Given the description of an element on the screen output the (x, y) to click on. 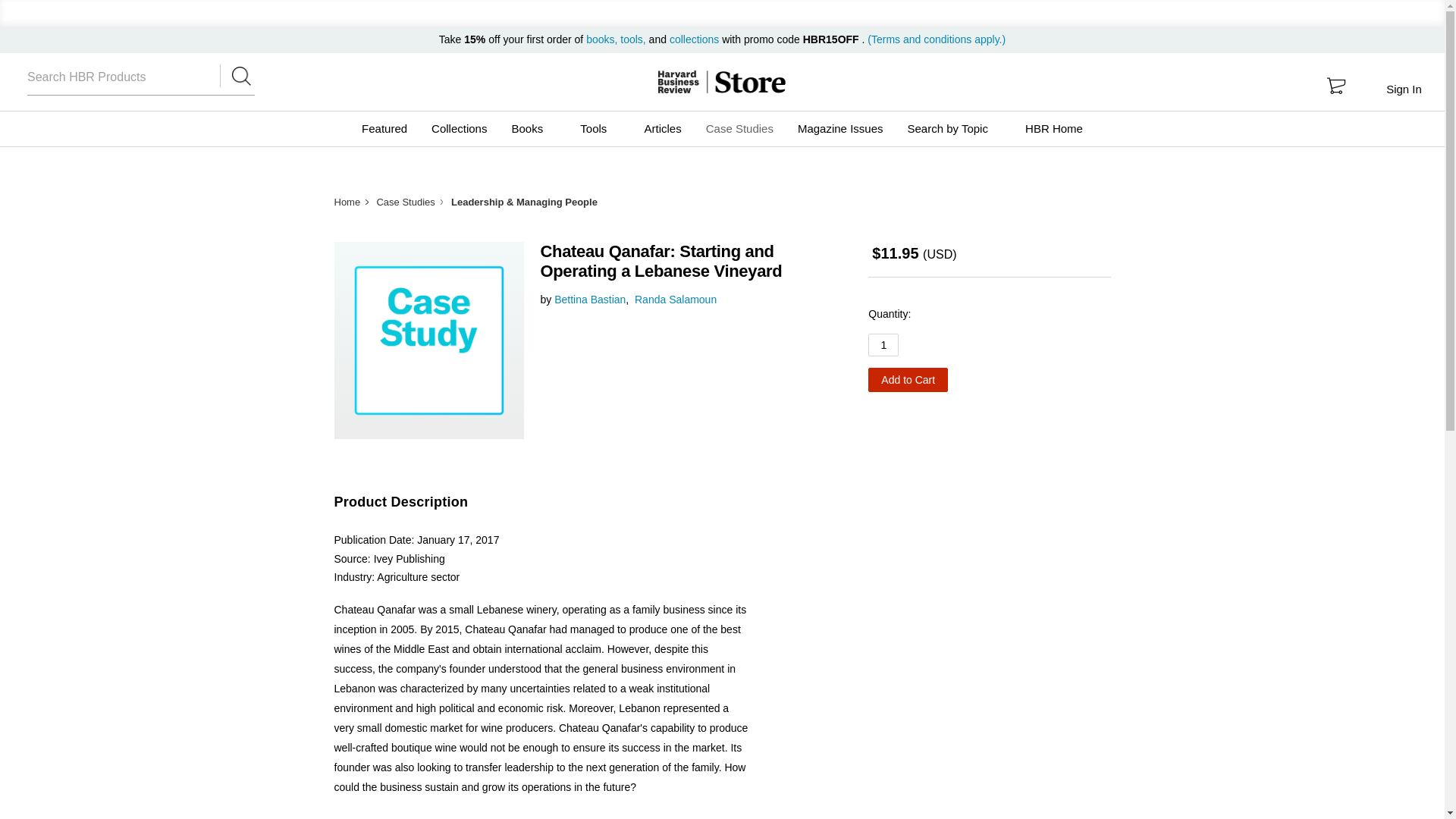
Featured (384, 128)
Collections (459, 128)
Books (533, 128)
Add to Cart (907, 379)
Sign In (1403, 88)
1 (882, 344)
books, (603, 39)
HBR.ORG - Prod (678, 81)
collections (694, 39)
Tools (599, 128)
